Given the description of an element on the screen output the (x, y) to click on. 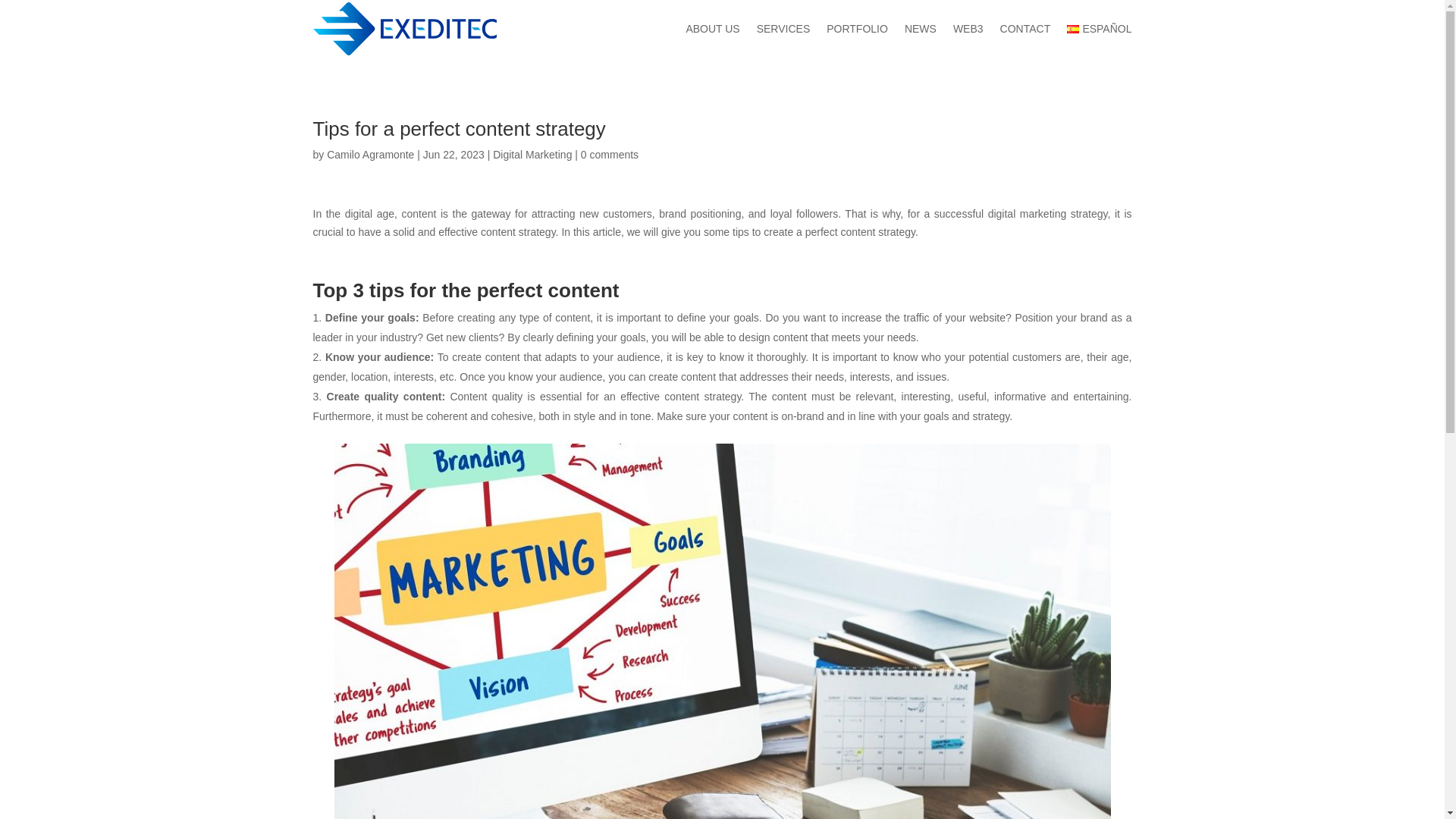
Digital Marketing (532, 154)
SERVICES (783, 28)
Camilo Agramonte (369, 154)
PORTFOLIO (857, 28)
Posts by Camilo Agramonte (369, 154)
ABOUT US (712, 28)
0 comments (609, 154)
